Given the description of an element on the screen output the (x, y) to click on. 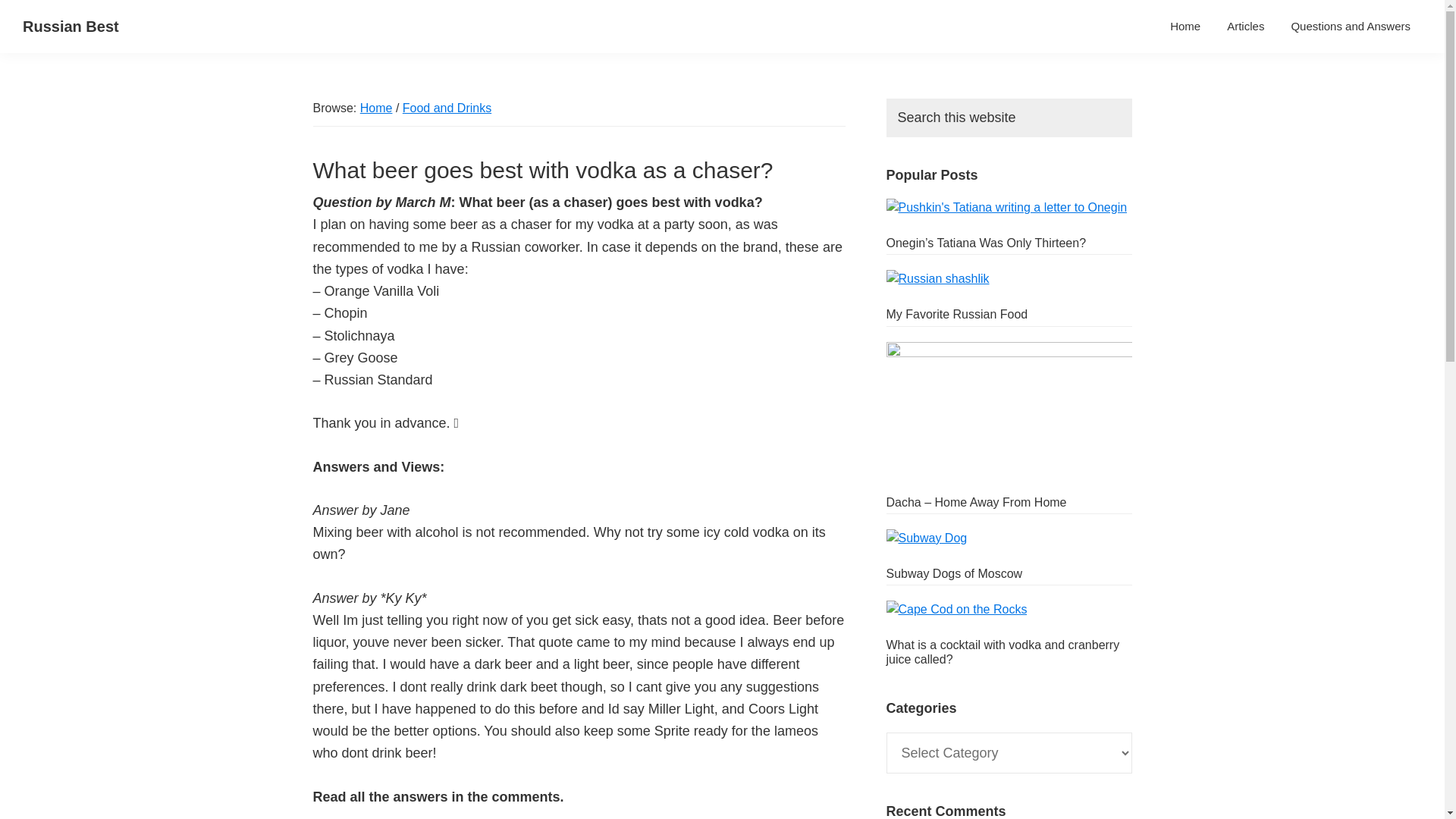
Questions and Answers (1350, 25)
Subway Dogs of Moscow (953, 573)
Home (1184, 25)
What is a cocktail with vodka and cranberry juice called? (1002, 651)
Home (376, 107)
My Favorite Russian Food (956, 314)
